Given the description of an element on the screen output the (x, y) to click on. 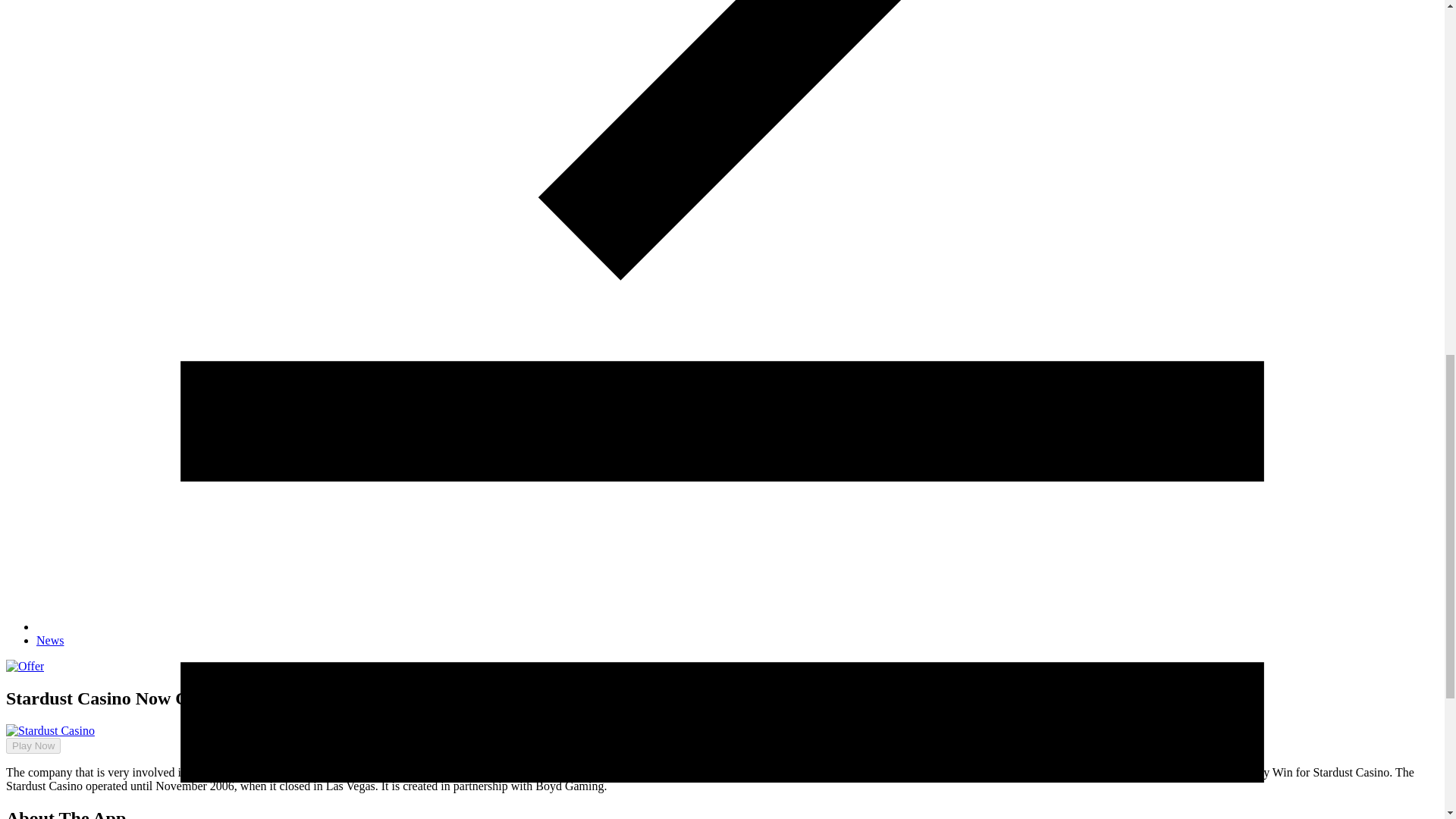
Play Now (27, 731)
Play Now (33, 745)
News (50, 640)
